Given the description of an element on the screen output the (x, y) to click on. 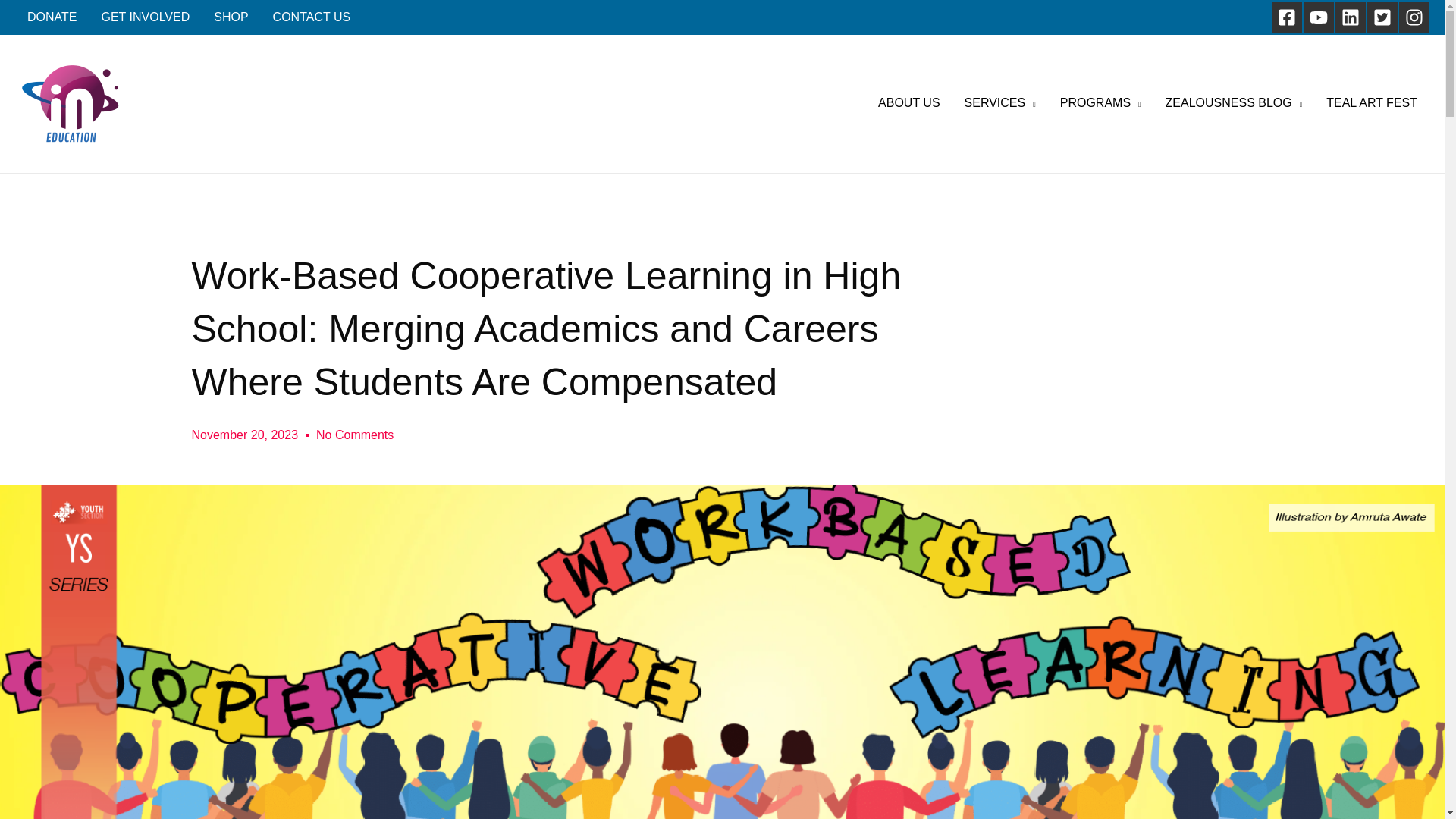
ZEALOUSNESS BLOG (1233, 103)
ABOUT US (909, 103)
GET INVOLVED (145, 17)
SERVICES (1000, 103)
SHOP (231, 17)
DONATE (51, 17)
PROGRAMS (1100, 103)
TEAL ART FEST (1371, 103)
CONTACT US (311, 17)
